Given the description of an element on the screen output the (x, y) to click on. 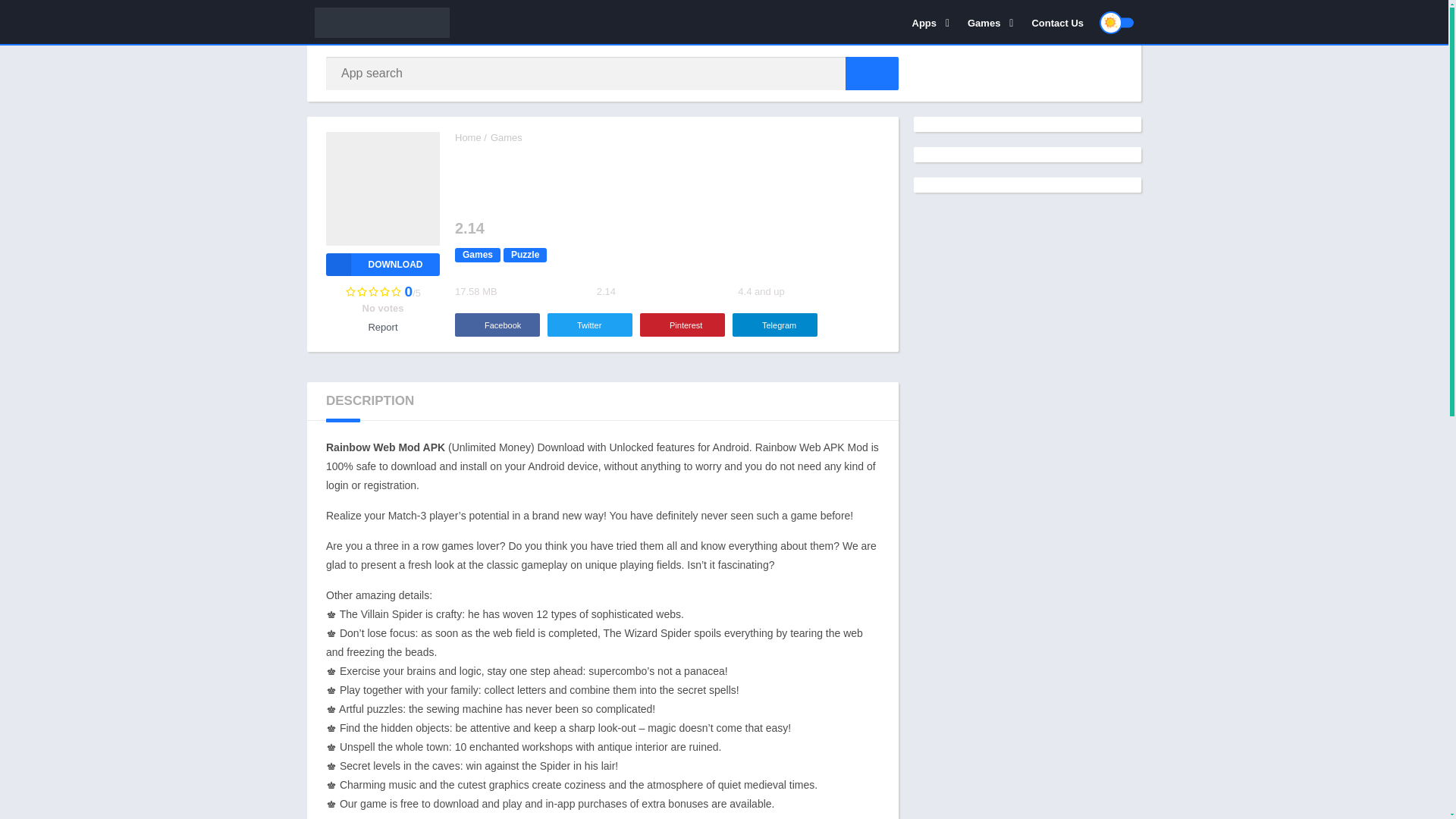
Download (382, 264)
App search (871, 73)
